Given the description of an element on the screen output the (x, y) to click on. 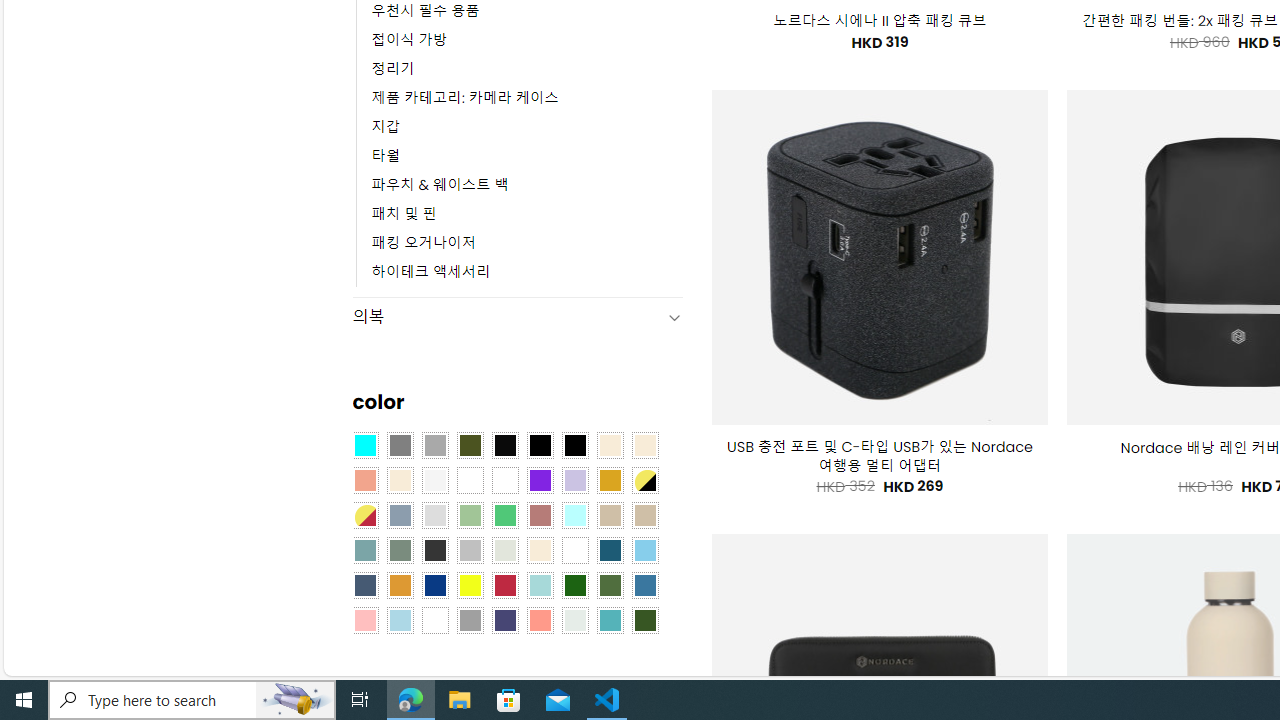
Purple (539, 480)
